Given the description of an element on the screen output the (x, y) to click on. 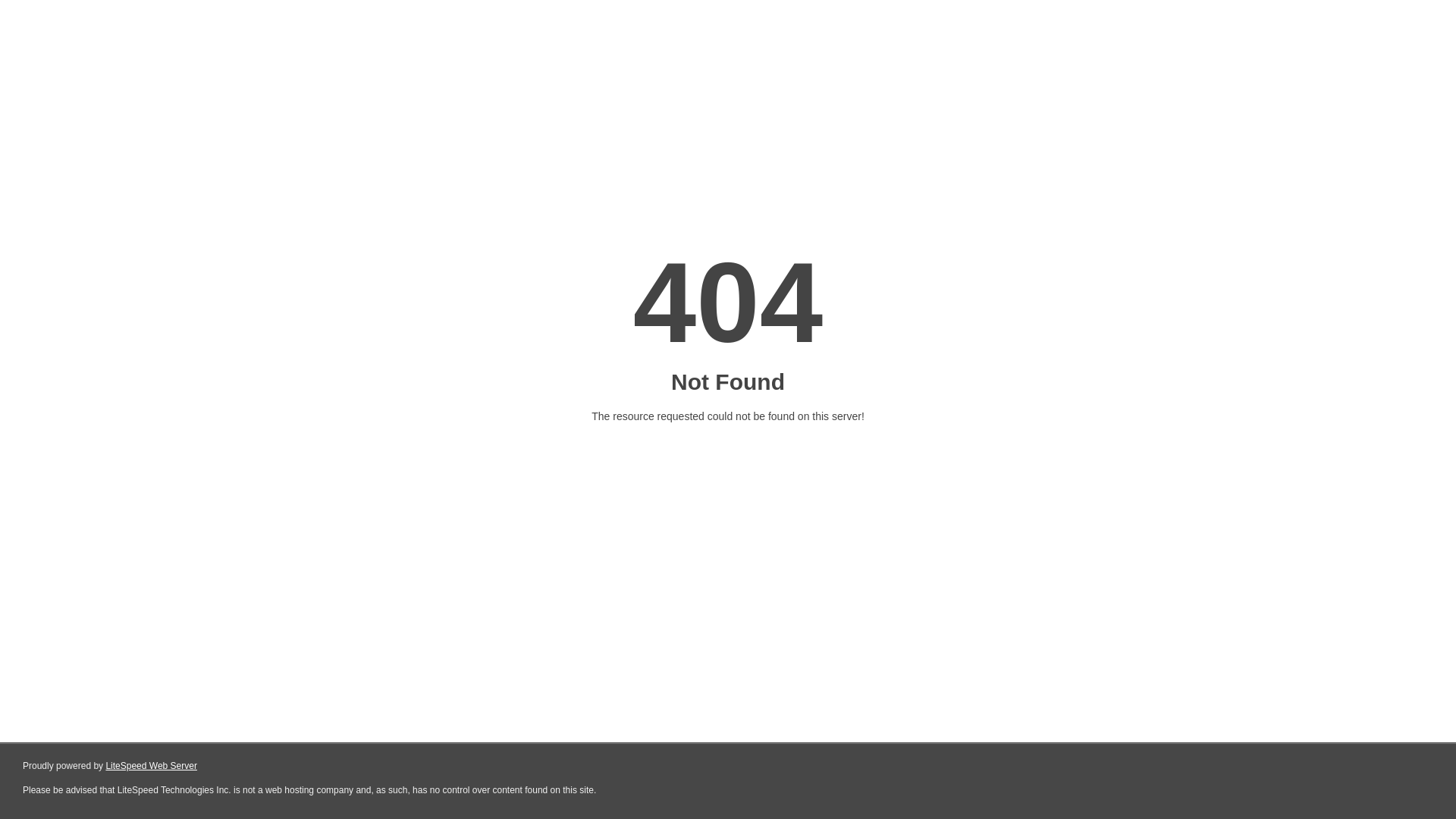
LiteSpeed Web Server Element type: text (151, 765)
